Given the description of an element on the screen output the (x, y) to click on. 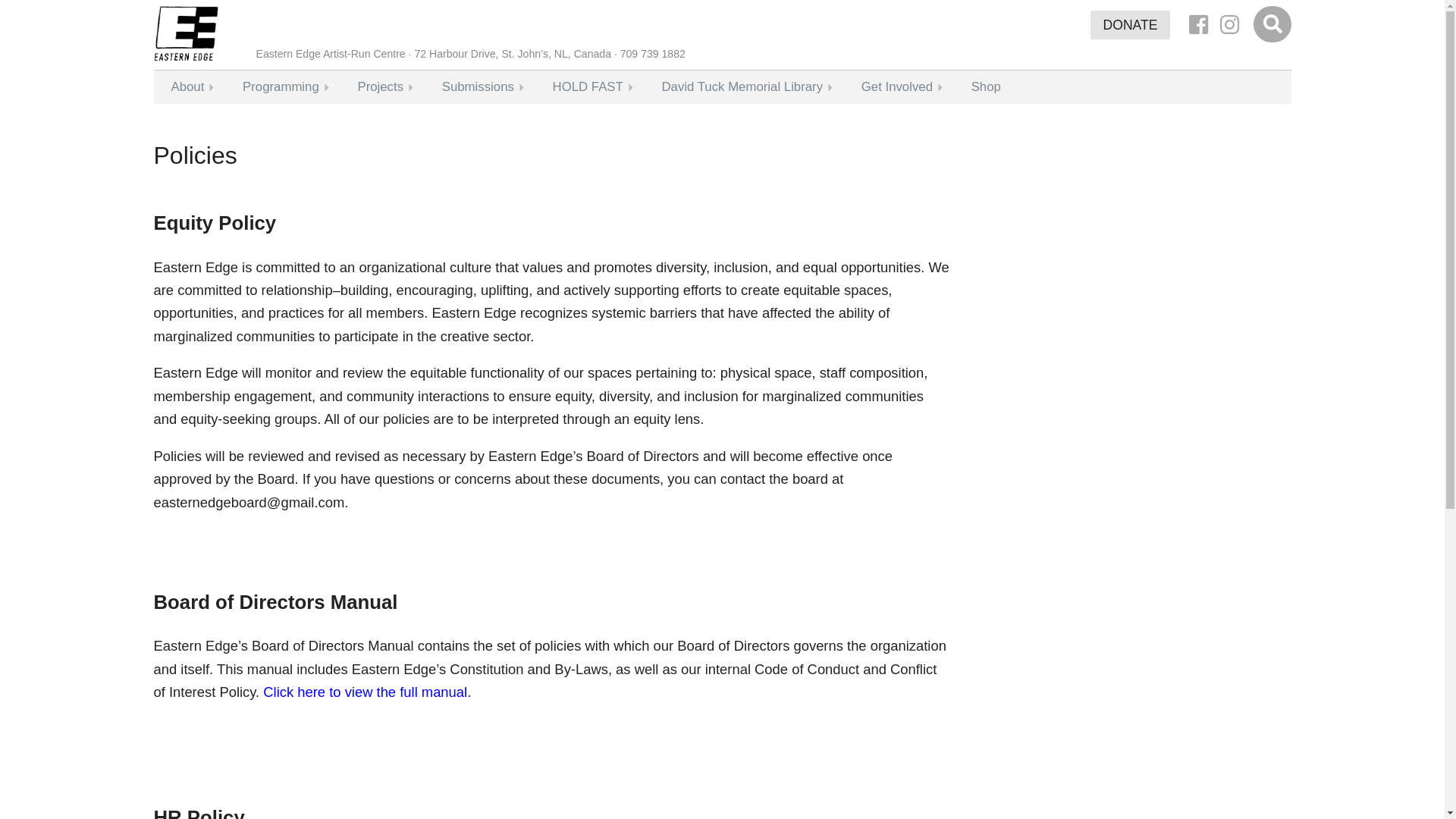
About (186, 87)
Search (1272, 25)
Programming (280, 87)
Search (1272, 25)
Search (1272, 25)
HOLD FAST (587, 87)
Projects (379, 87)
Submissions (478, 87)
